Given the description of an element on the screen output the (x, y) to click on. 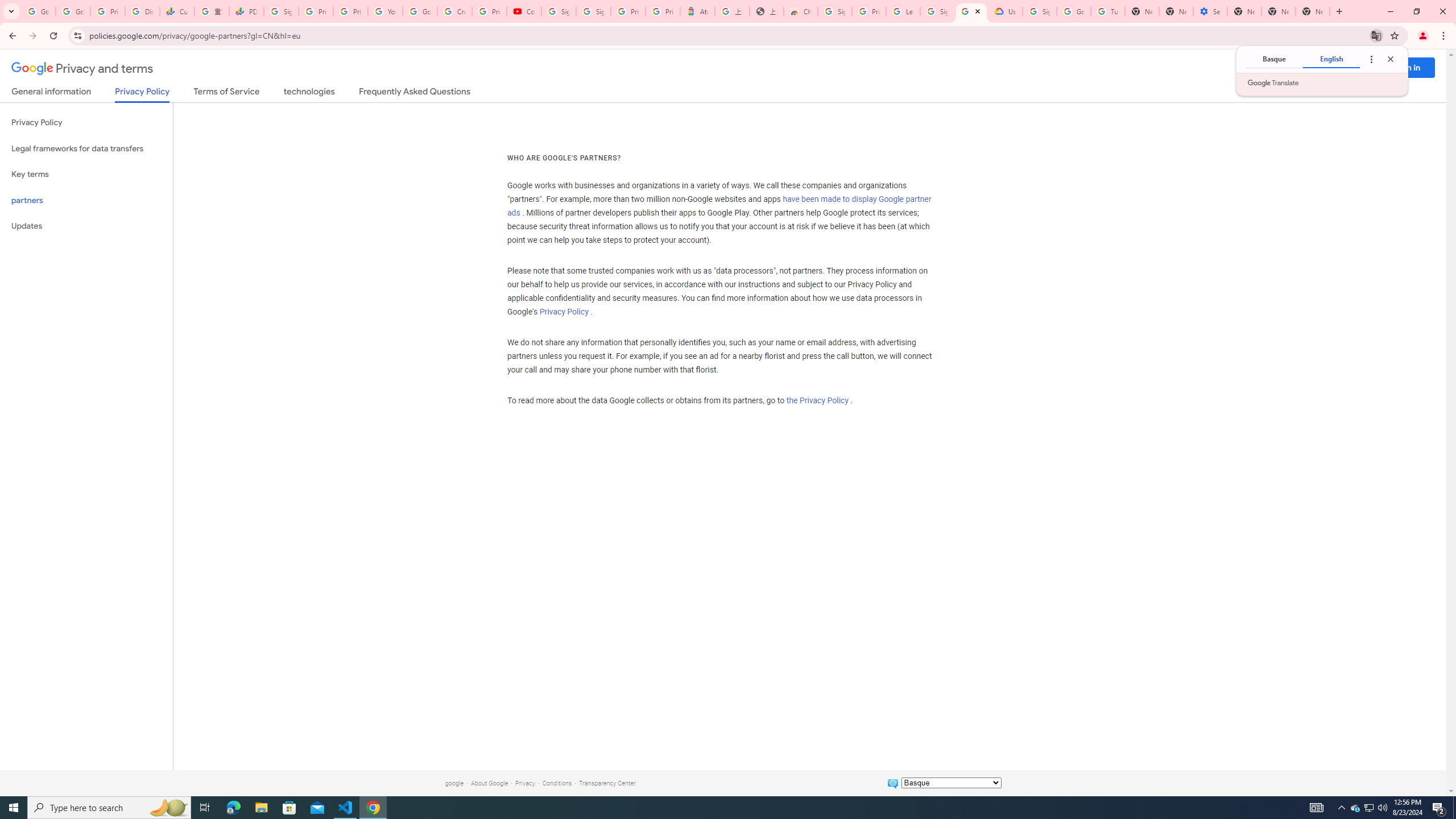
YouTube (384, 11)
Sign in - Google Accounts (834, 11)
Task View (204, 807)
Translate this page (1376, 35)
Sign in - Google Accounts (281, 11)
technologies (308, 93)
User Promoted Notification Area (1368, 807)
File Explorer (261, 807)
Change language: (951, 782)
